Given the description of an element on the screen output the (x, y) to click on. 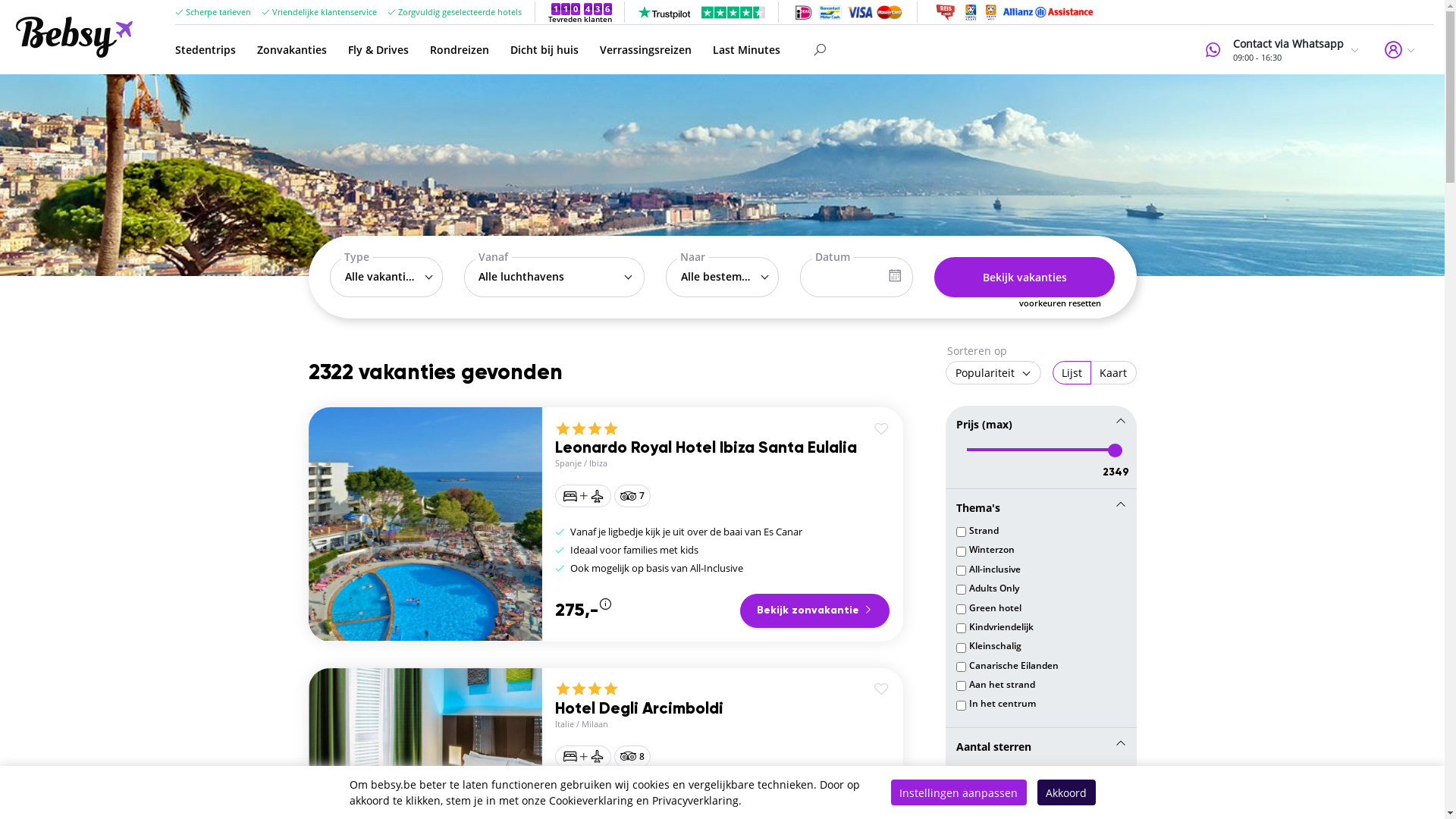
VVV Lekkerweg Element type: hover (990, 12)
MasterCard Element type: hover (889, 12)
Hotel Degli Arcimboldi Element type: text (639, 709)
Dicht bij huis Element type: text (544, 49)
Ibiza Element type: text (598, 462)
Rondreizen Element type: text (459, 49)
Lijst Element type: text (1071, 372)
Visa Element type: hover (859, 12)
MrCash Element type: hover (830, 12)
Ideal Element type: hover (802, 12)
Privacyverklaring Element type: text (695, 800)
Spanje Element type: text (568, 462)
Leonardo Royal Hotel Ibiza Santa Eulalia Element type: text (705, 448)
Cookieverklaring Element type: text (591, 800)
Bekijk vakanties Element type: text (1024, 276)
Fly & Drives Element type: text (378, 49)
Akkoord Element type: text (1066, 792)
Milaan Element type: text (594, 723)
Italie Element type: text (564, 723)
Last Minutes Element type: text (746, 49)
Bekijk zonvakantie Element type: text (814, 610)
Instellingen aanpassen Element type: text (958, 792)
VVV Cadeau Element type: hover (971, 12)
Verrassingsreizen Element type: text (645, 49)
Gebaseerd op 5905 reviews Element type: hover (701, 12)
Stedentrips Element type: text (205, 49)
Kaart Element type: text (1113, 372)
Reis Cadeau Element type: hover (945, 12)
Zonvakanties Element type: text (291, 49)
